Given the description of an element on the screen output the (x, y) to click on. 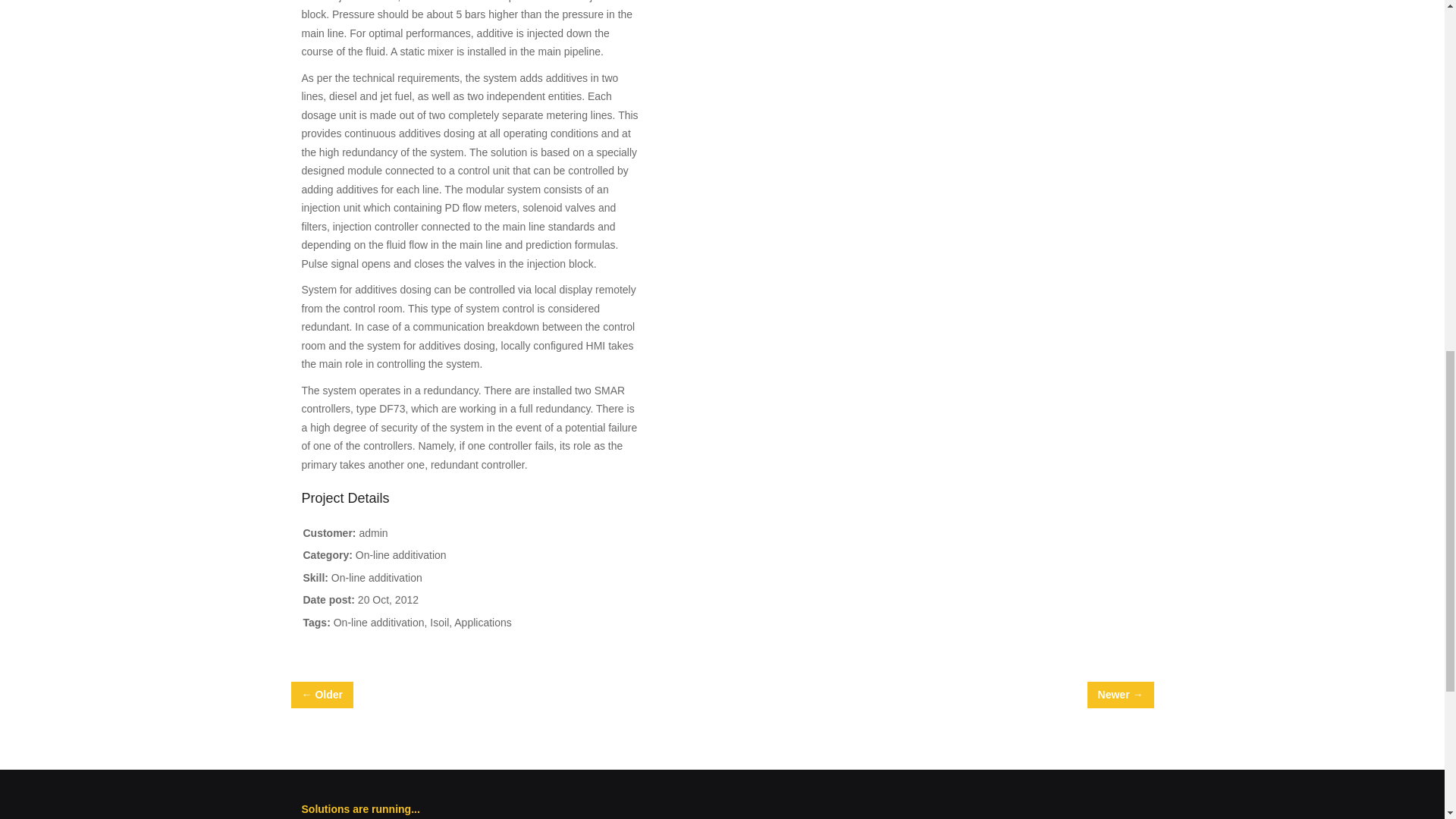
On-line additivation (400, 554)
On-line additivation (379, 622)
Applications (483, 622)
On-line additivation (376, 577)
Home (360, 808)
Isoil (438, 622)
